Given the description of an element on the screen output the (x, y) to click on. 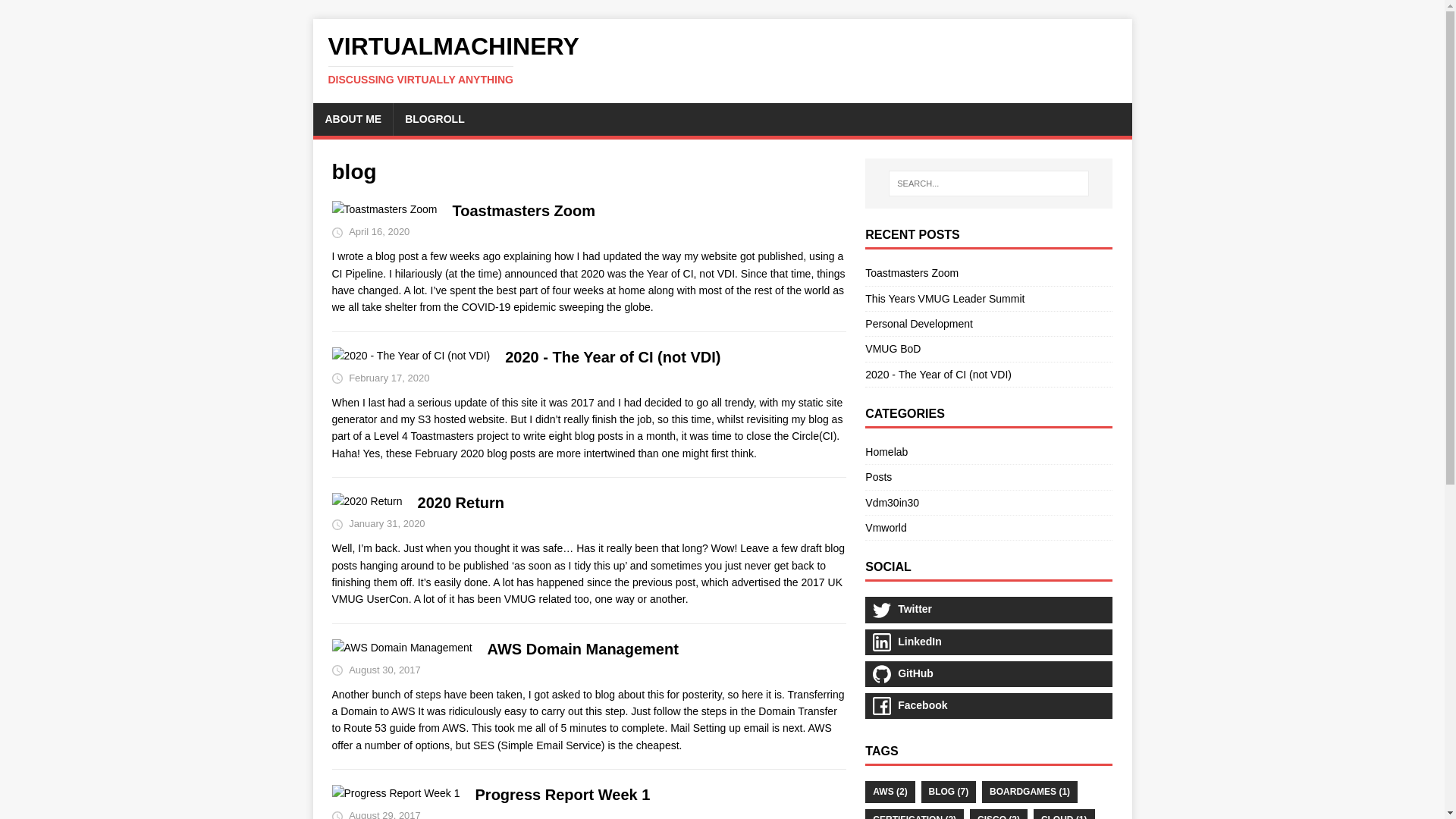
cloud (1063, 814)
Vdm30in30 (988, 502)
Posts (988, 476)
boardgames (1029, 792)
cisco (998, 814)
Search (56, 11)
Facebook (988, 705)
AWS Domain Management (582, 648)
This Years VMUG Leader Summit (944, 298)
GitHub (988, 673)
